Given the description of an element on the screen output the (x, y) to click on. 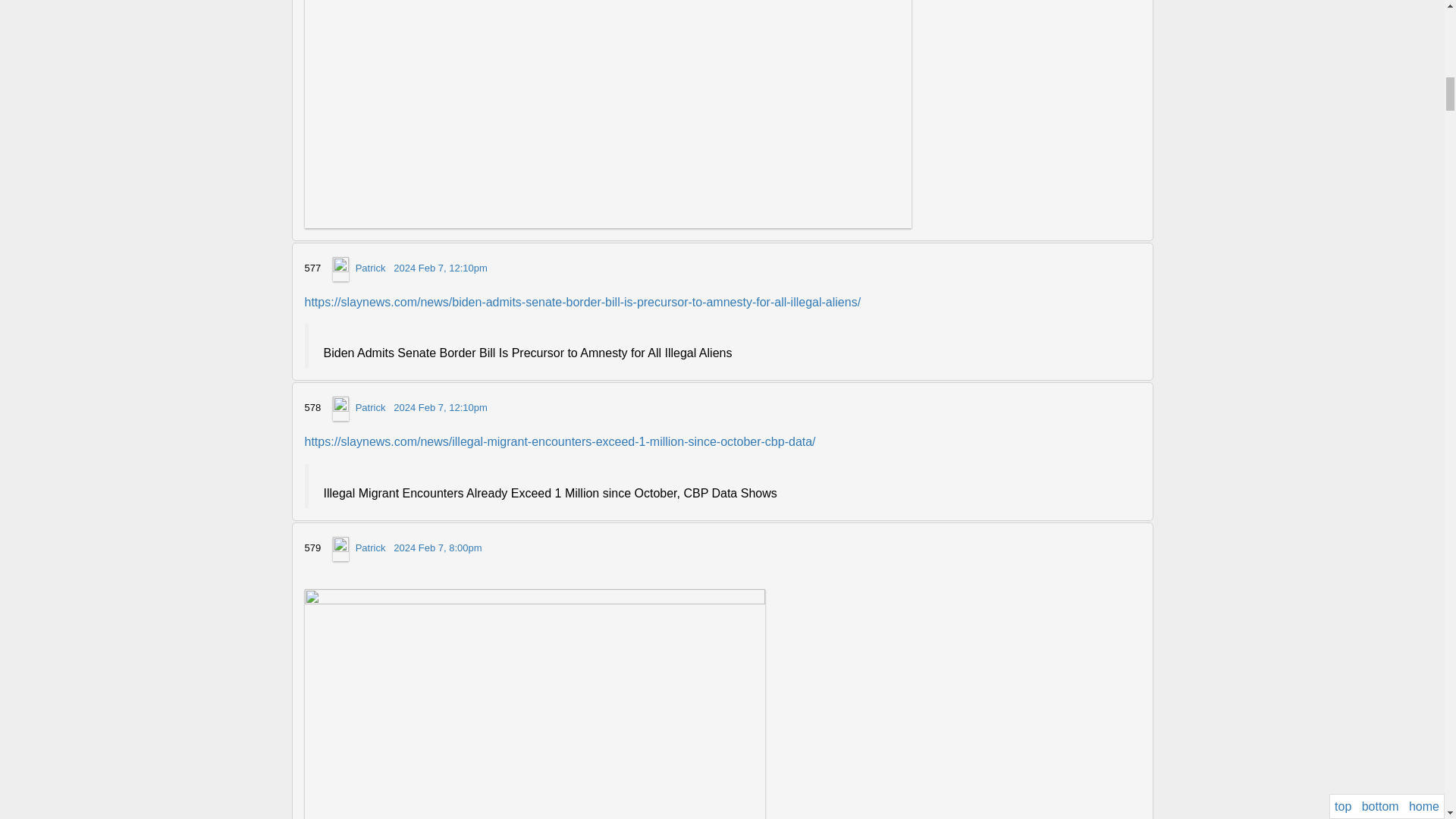
permalink to this comment (440, 408)
permalink to this comment (440, 267)
2024 Feb 7, 12:10pm (440, 408)
2024 Feb 7, 12:10pm (440, 267)
Patrick (370, 408)
permalink to this comment (437, 547)
Patrick (370, 267)
